Given the description of an element on the screen output the (x, y) to click on. 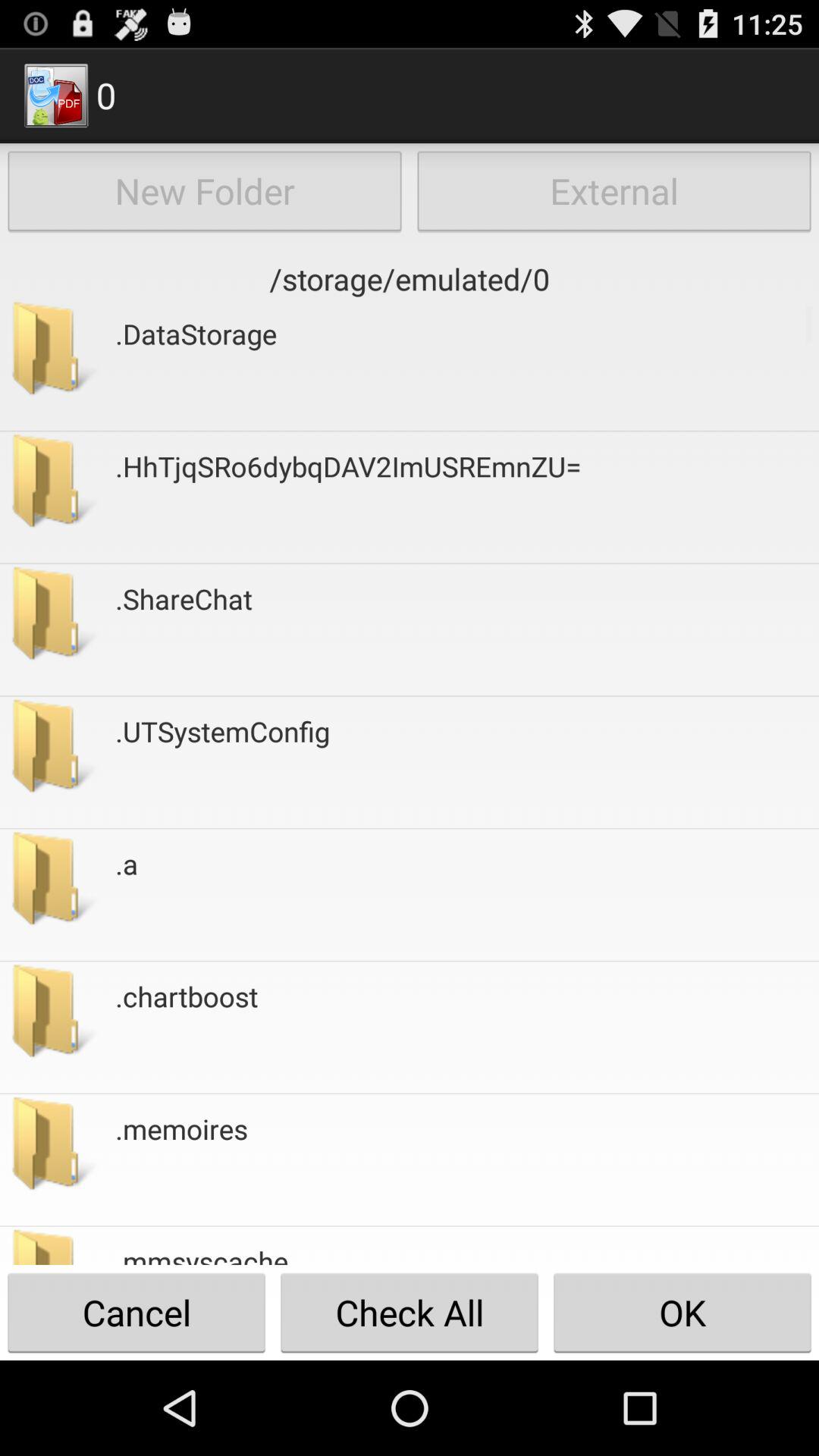
press the app below the .sharechat (222, 762)
